Given the description of an element on the screen output the (x, y) to click on. 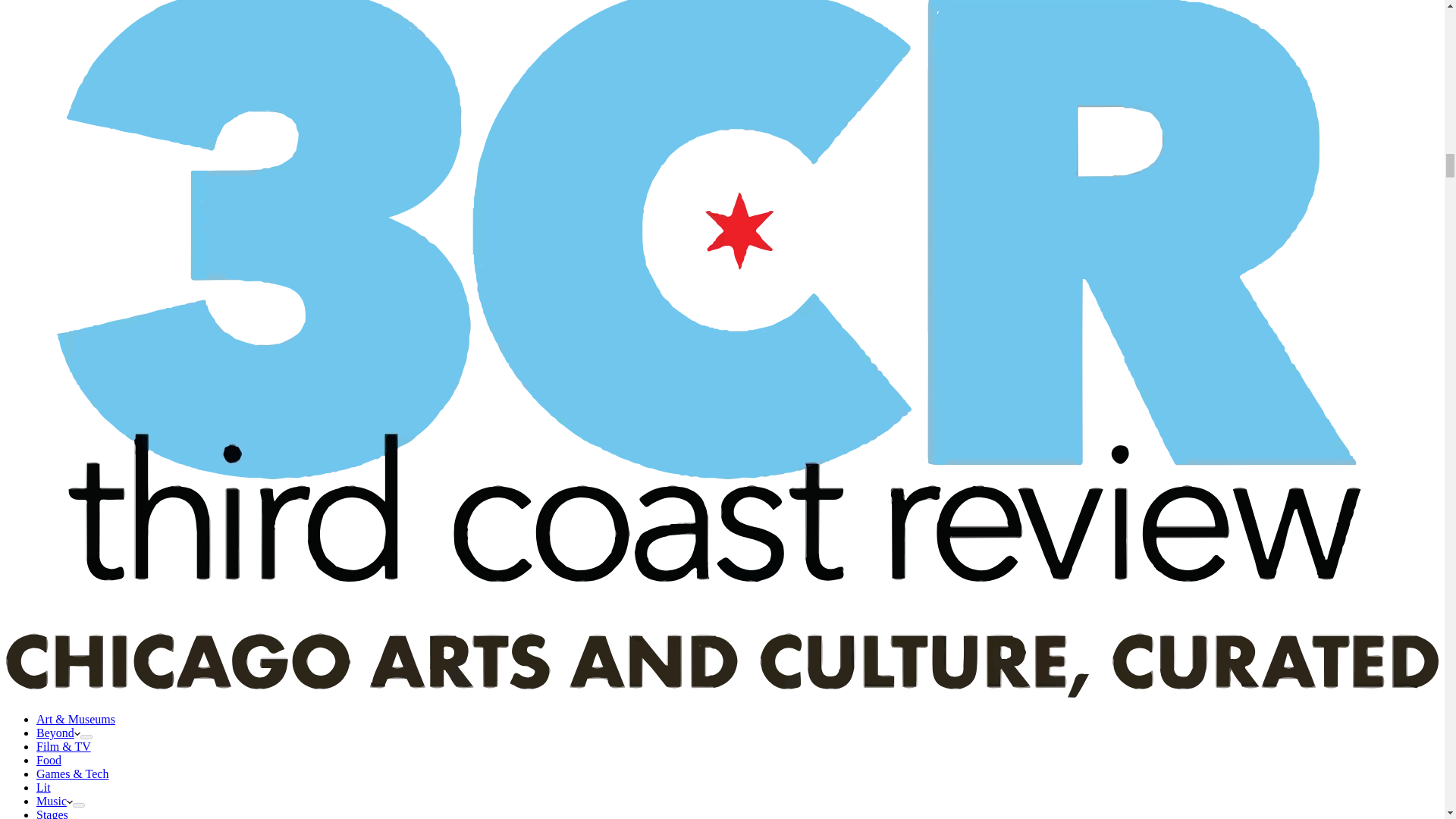
Music (54, 800)
Food (48, 759)
Stages (52, 813)
Lit (43, 787)
Beyond (58, 732)
